Given the description of an element on the screen output the (x, y) to click on. 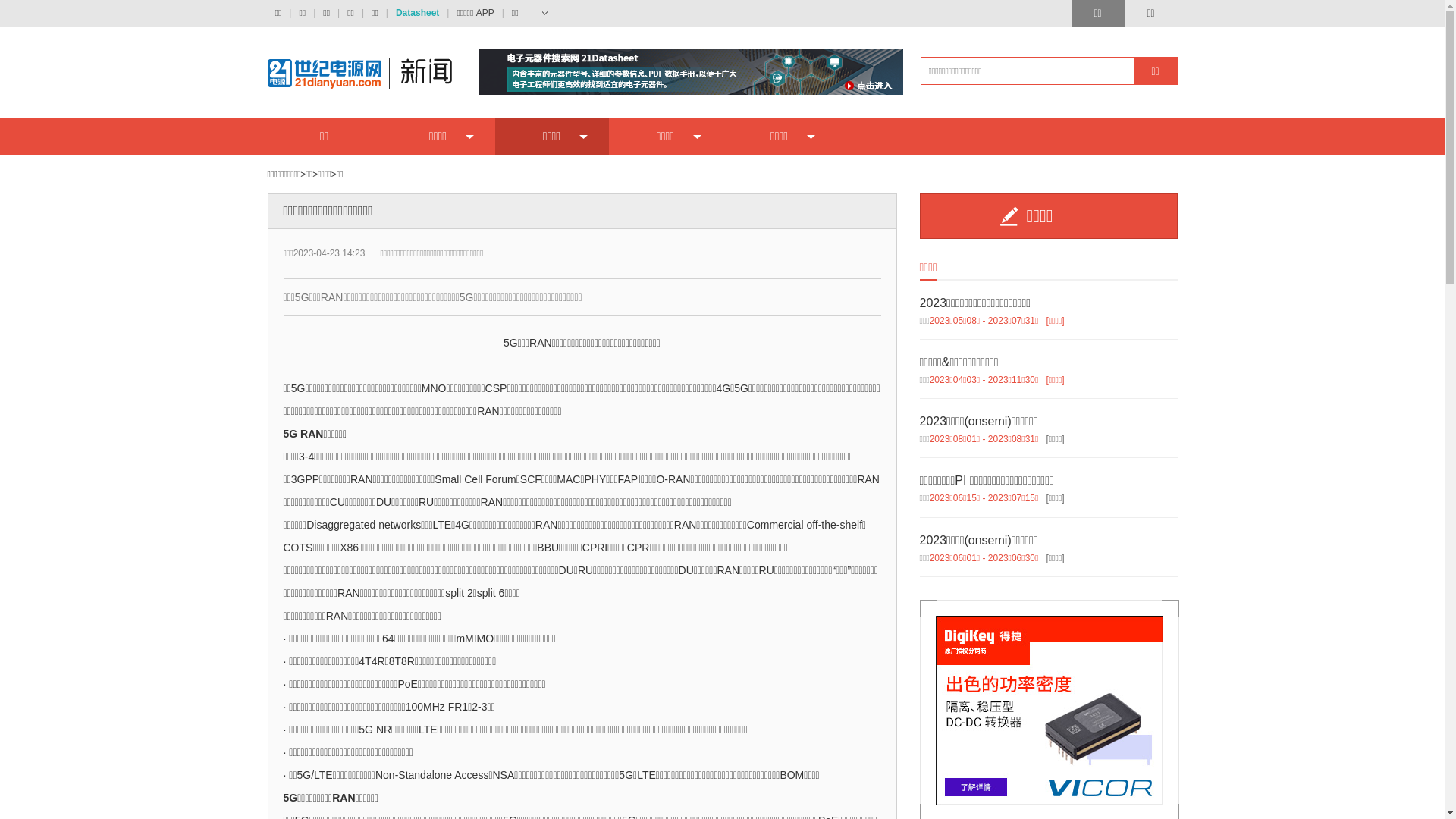
Datasheet Element type: text (417, 13)
